Given the description of an element on the screen output the (x, y) to click on. 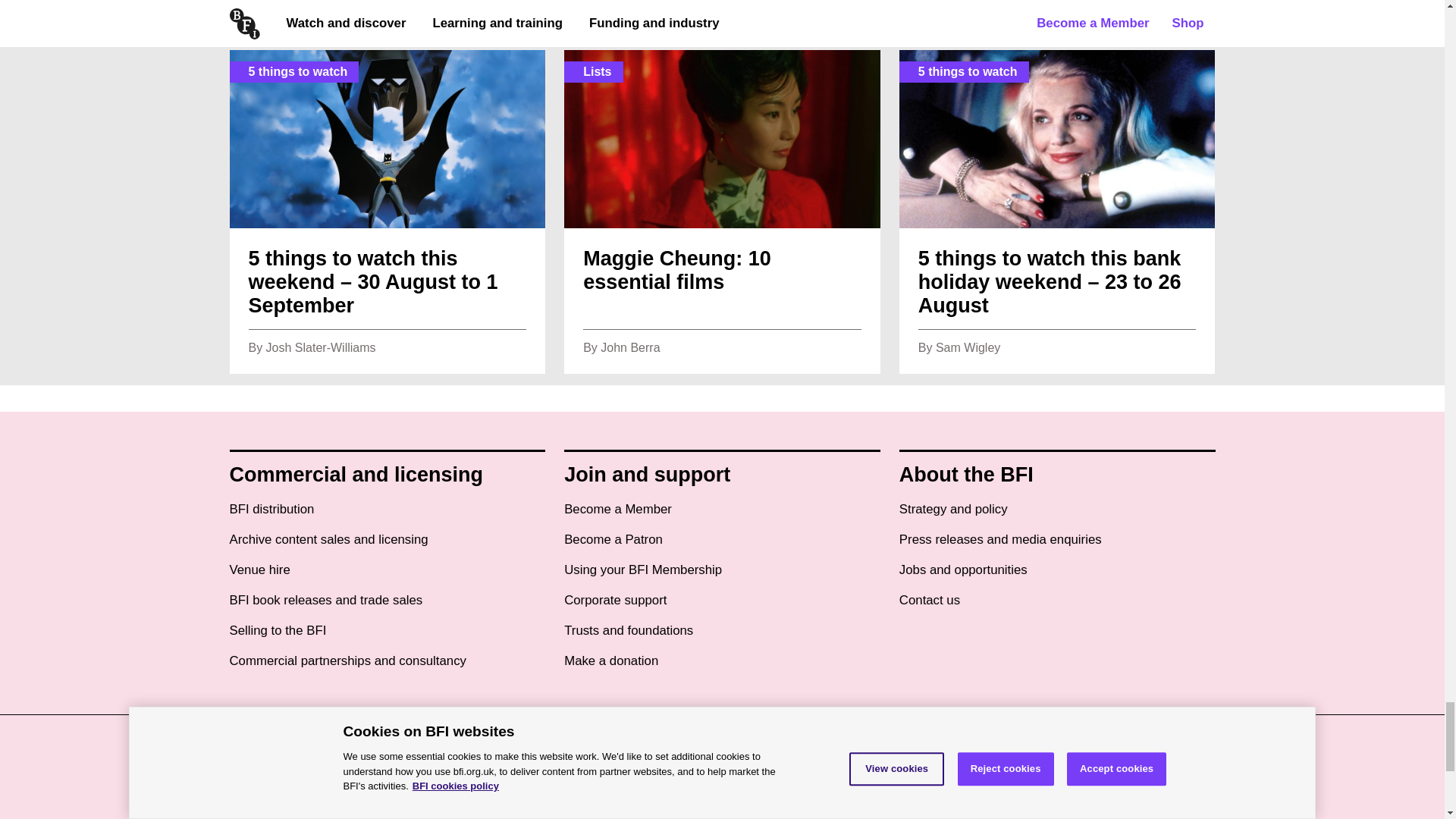
Commercial partnerships and consultancy (346, 661)
Using your BFI Membership (643, 570)
Read Maggie Cheung: 10 essential films (722, 211)
Archive content sales and licensing (328, 539)
Commercial and licensing (355, 474)
Become a Member (617, 509)
BFI distribution (271, 509)
Join and support (647, 474)
BFI book releases and trade sales (325, 600)
Selling to the BFI (277, 630)
